Given the description of an element on the screen output the (x, y) to click on. 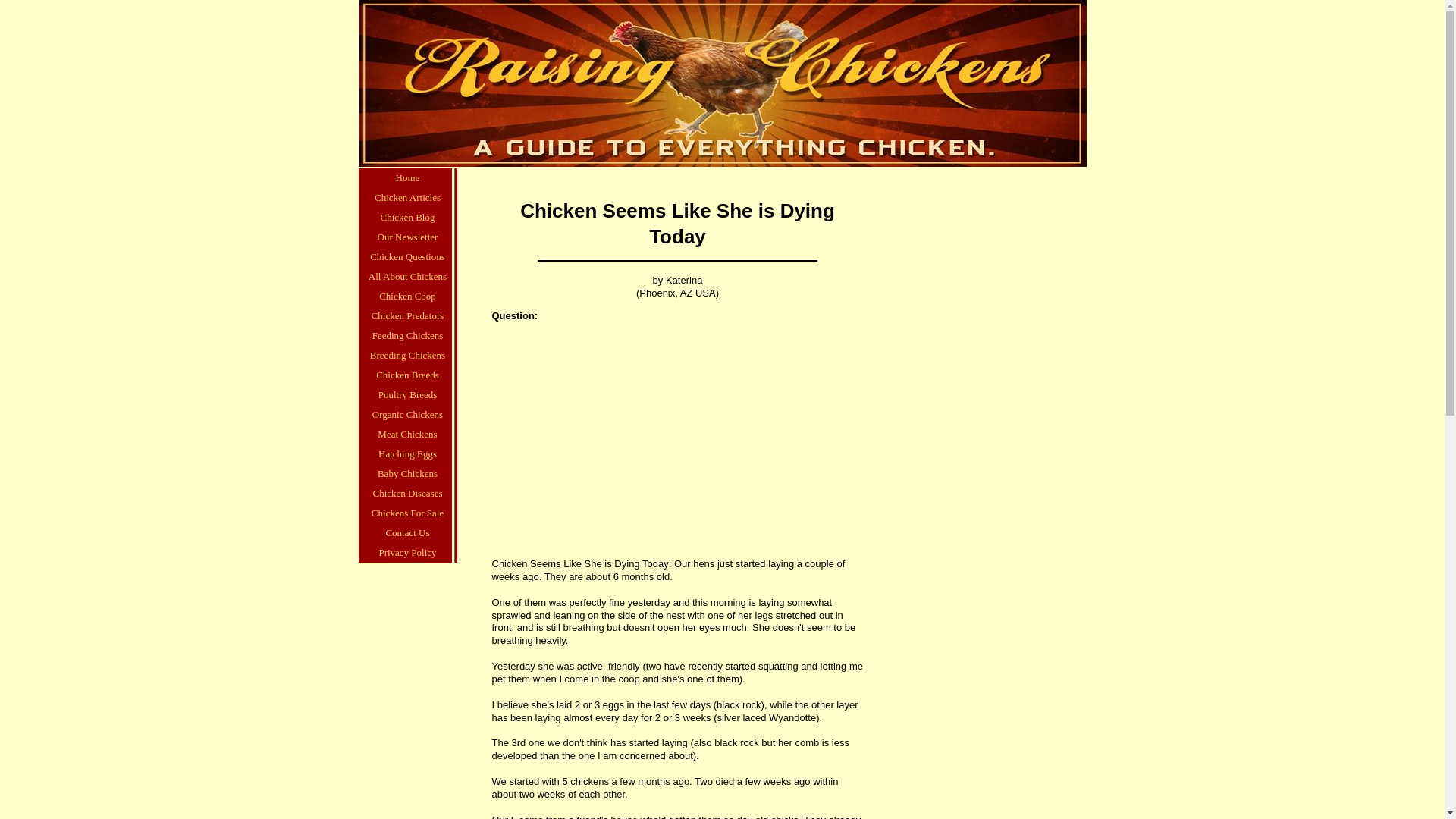
Chicken Questions (407, 256)
Contact Us (407, 532)
Hatching Eggs (407, 454)
Our Newsletter (407, 237)
Poultry Breeds (407, 394)
Chicken Breeds (407, 374)
Chicken Predators (407, 315)
Baby Chickens (407, 474)
Home (407, 178)
Organic Chickens (407, 414)
